Given the description of an element on the screen output the (x, y) to click on. 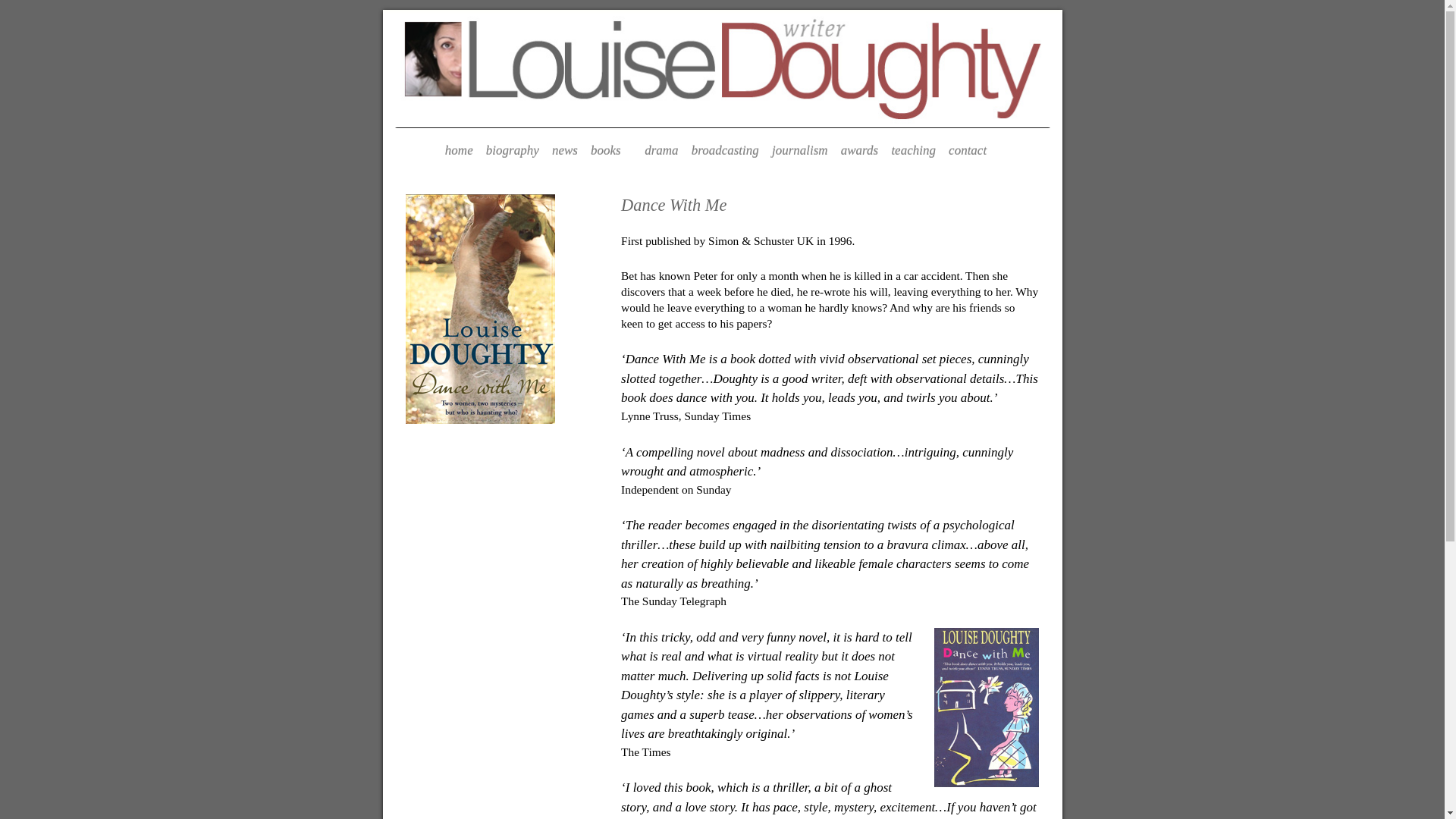
teaching (912, 151)
news (565, 151)
drama (660, 151)
books (611, 151)
contact (967, 151)
Louise Doughty (721, 65)
broadcasting (724, 151)
journalism (799, 151)
biography (512, 151)
awards (859, 151)
